Given the description of an element on the screen output the (x, y) to click on. 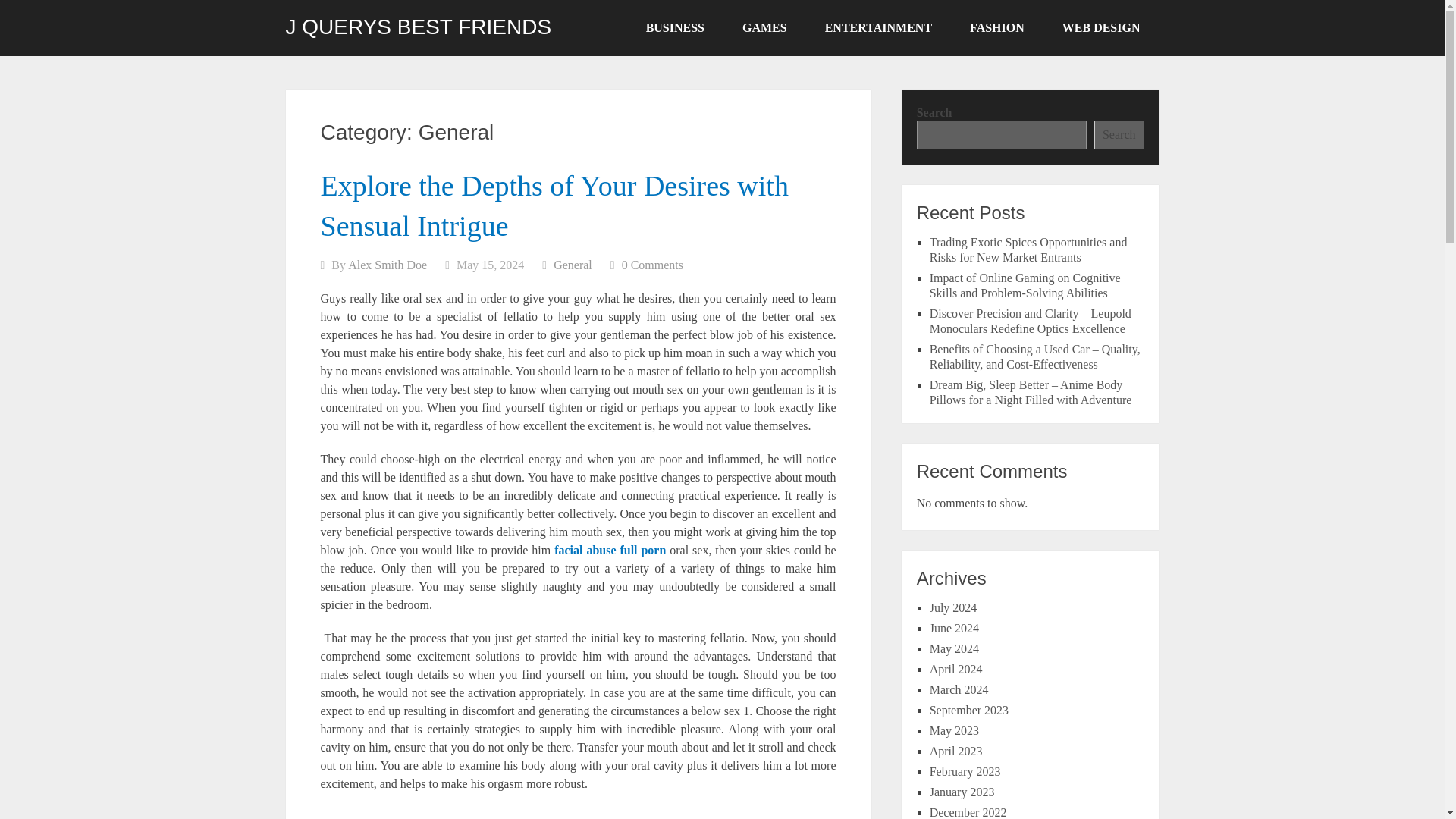
0 Comments (651, 264)
March 2024 (959, 689)
FASHION (996, 28)
GAMES (764, 28)
May 2023 (954, 730)
September 2023 (969, 709)
April 2024 (956, 668)
February 2023 (965, 771)
December 2022 (968, 812)
